Given the description of an element on the screen output the (x, y) to click on. 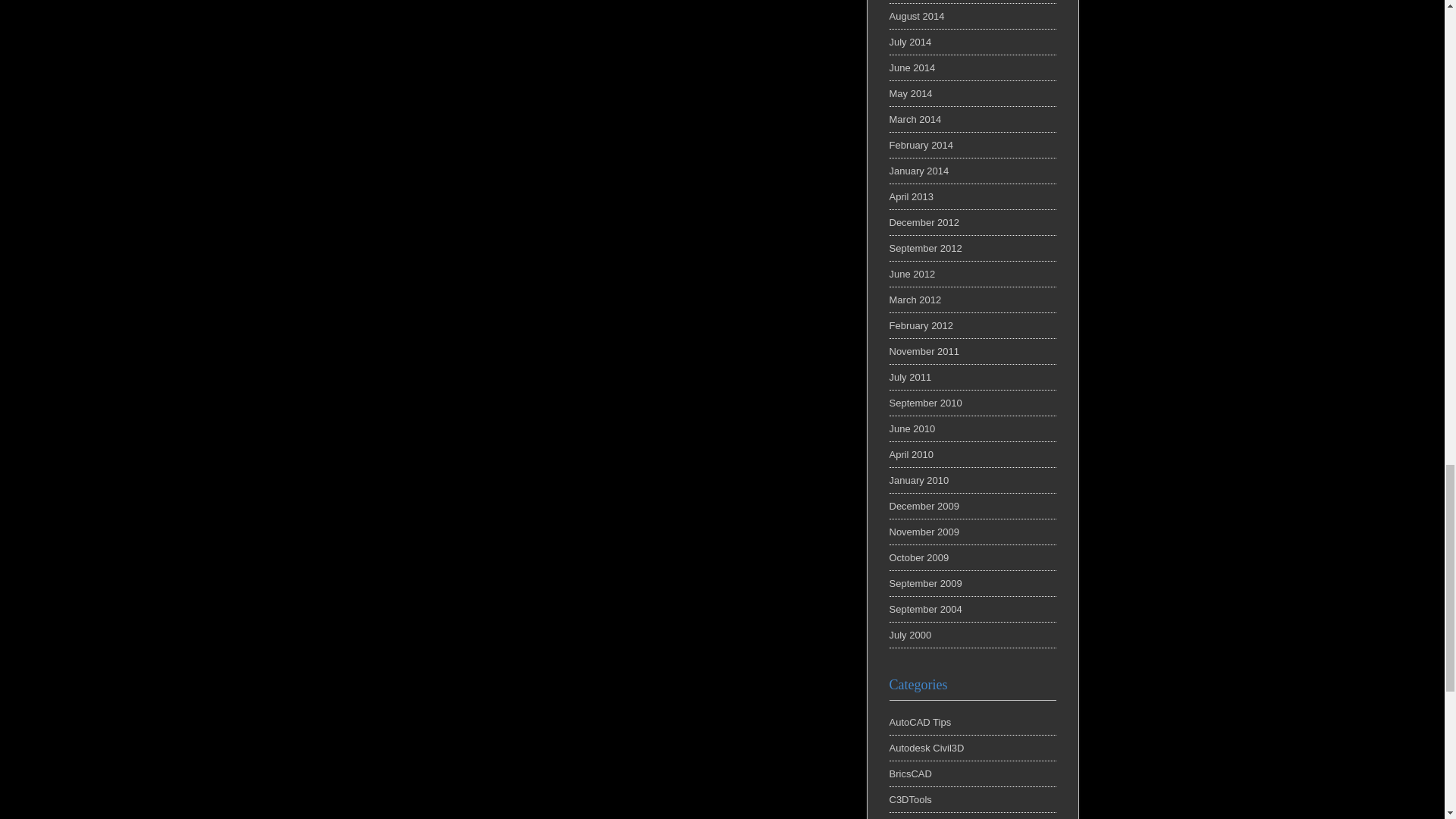
Issues related to Autodesk's Civil3D product (925, 747)
